Given the description of an element on the screen output the (x, y) to click on. 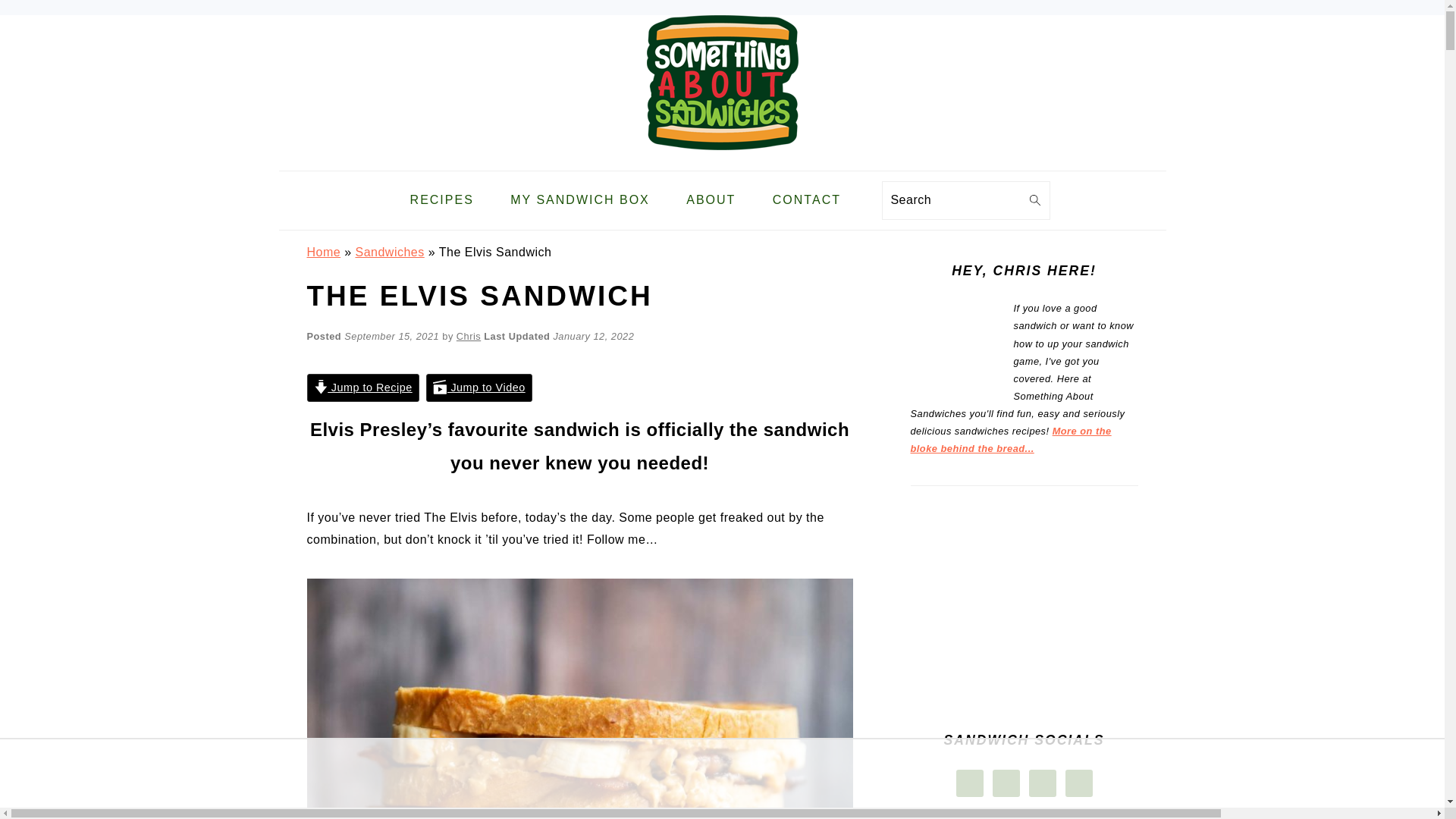
Something About Sandwiches (721, 158)
Jump to Recipe (362, 387)
Something About Sandwiches (721, 82)
Chris (468, 336)
CONTACT (807, 200)
Jump to Video (478, 387)
RECIPES (441, 200)
Sandwiches (389, 251)
ABOUT (710, 200)
Home (322, 251)
Jump to Video (478, 387)
